Given the description of an element on the screen output the (x, y) to click on. 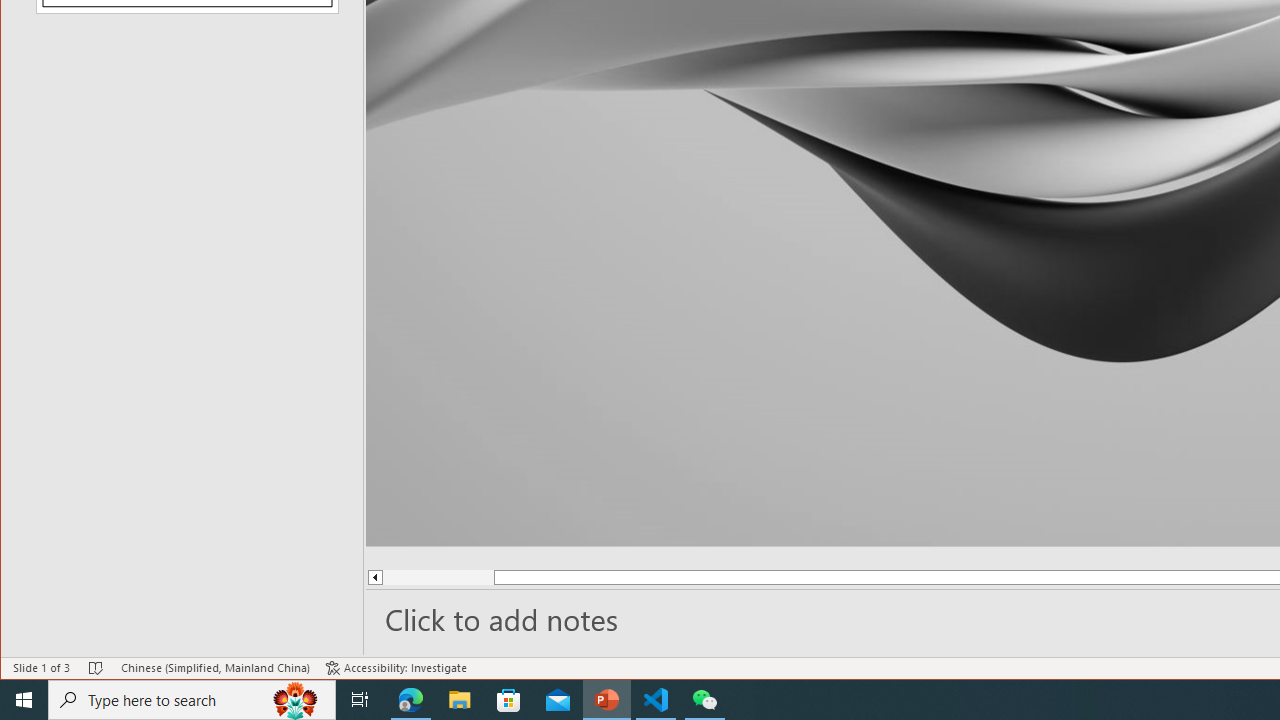
File Explorer (460, 699)
Search highlights icon opens search home window (295, 699)
WeChat - 1 running window (704, 699)
Microsoft Store (509, 699)
Task View (359, 699)
PowerPoint - 1 running window (607, 699)
Type here to search (191, 699)
Start (24, 699)
Visual Studio Code - 1 running window (656, 699)
Page up (438, 577)
Microsoft Edge - 1 running window (411, 699)
